Given the description of an element on the screen output the (x, y) to click on. 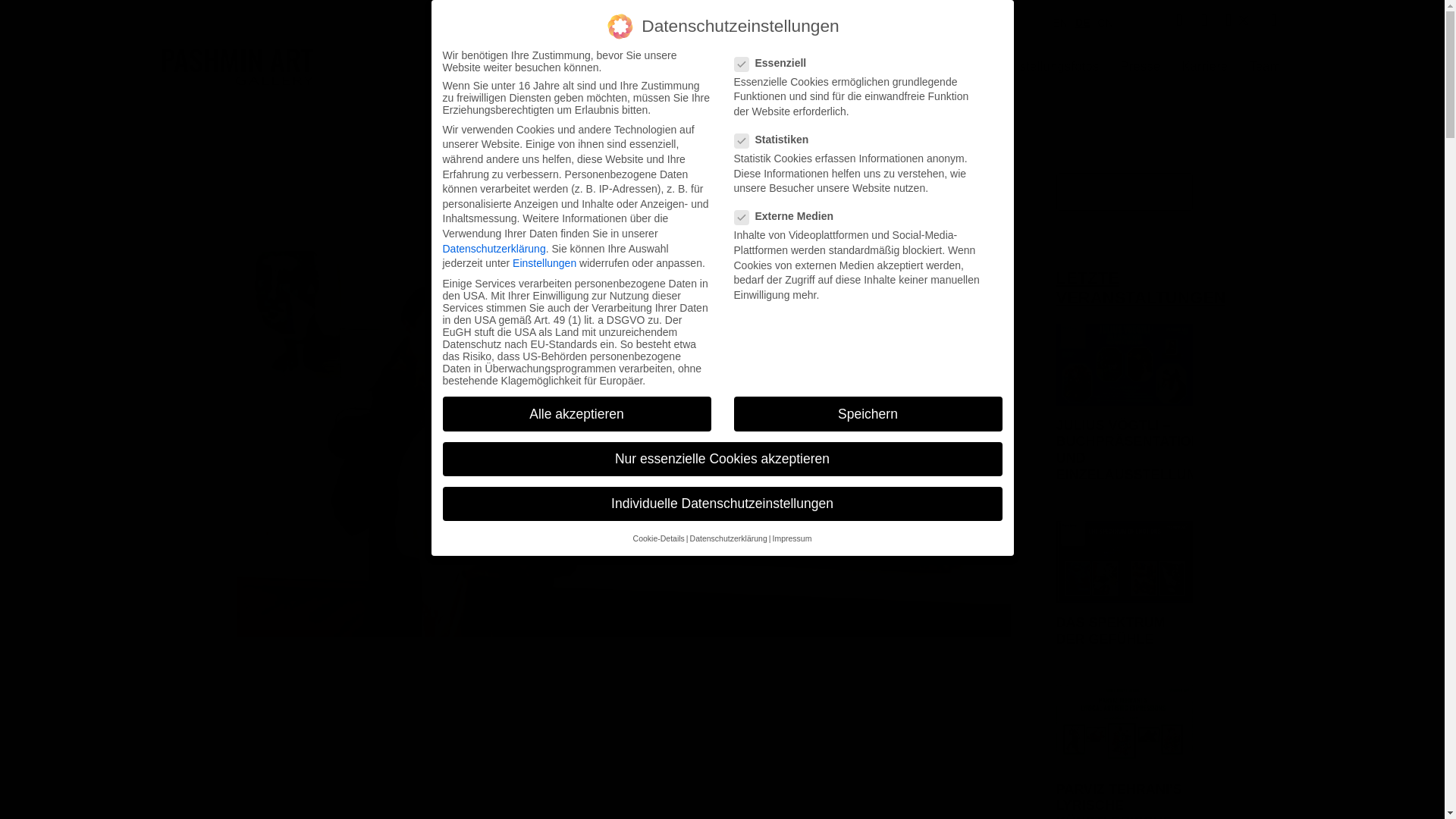
Standorte (820, 66)
EN (1056, 21)
Karriere (1203, 66)
Veranstaltungstermine (700, 66)
CN (1100, 21)
Presse (1140, 66)
Ausstellungsfotos (1048, 66)
DE (1078, 21)
Ausstellungsfilme (925, 66)
